Given the description of an element on the screen output the (x, y) to click on. 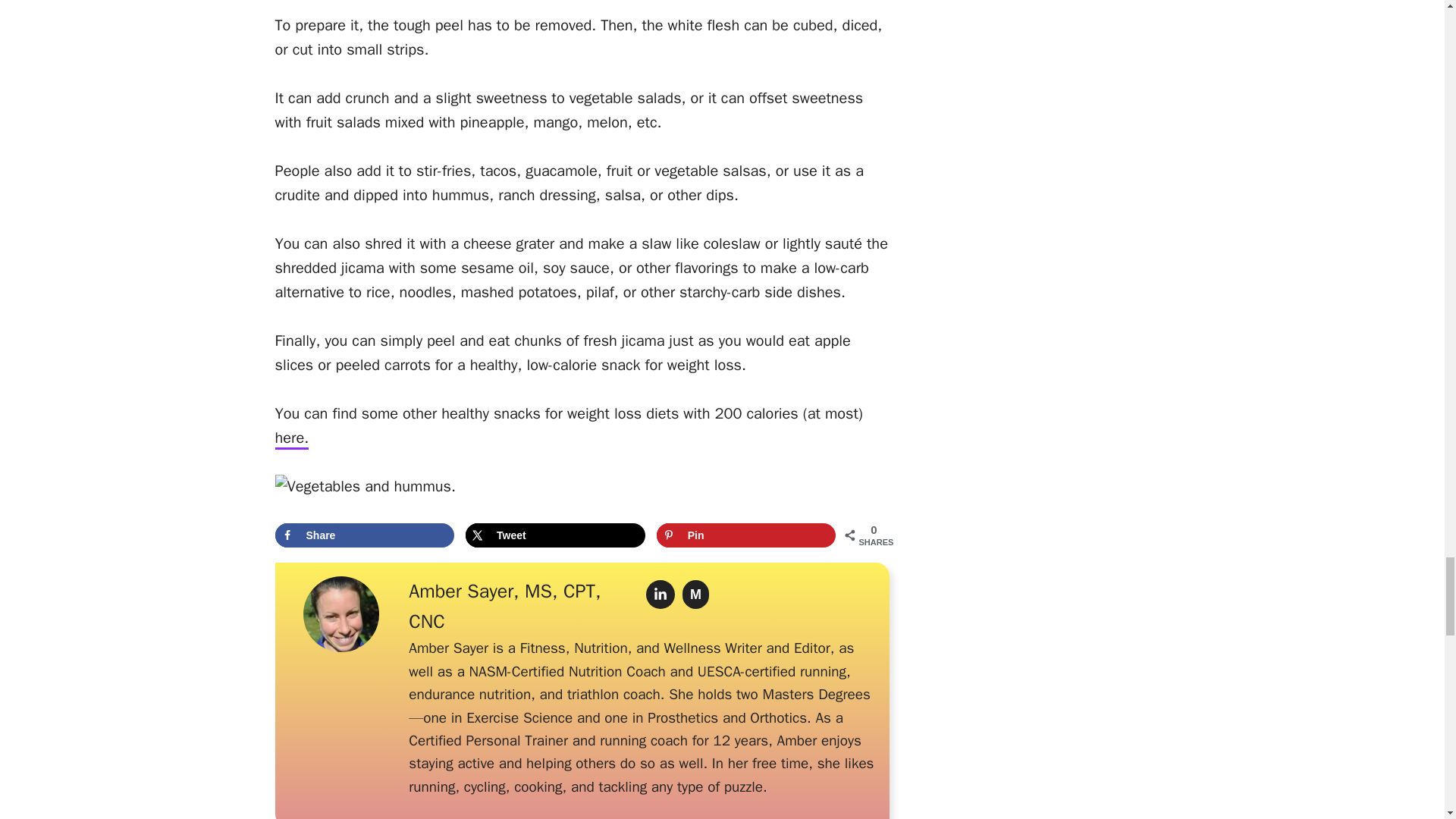
Share on Facebook (364, 535)
Save to Pinterest (745, 535)
Share on X (555, 535)
